Given the description of an element on the screen output the (x, y) to click on. 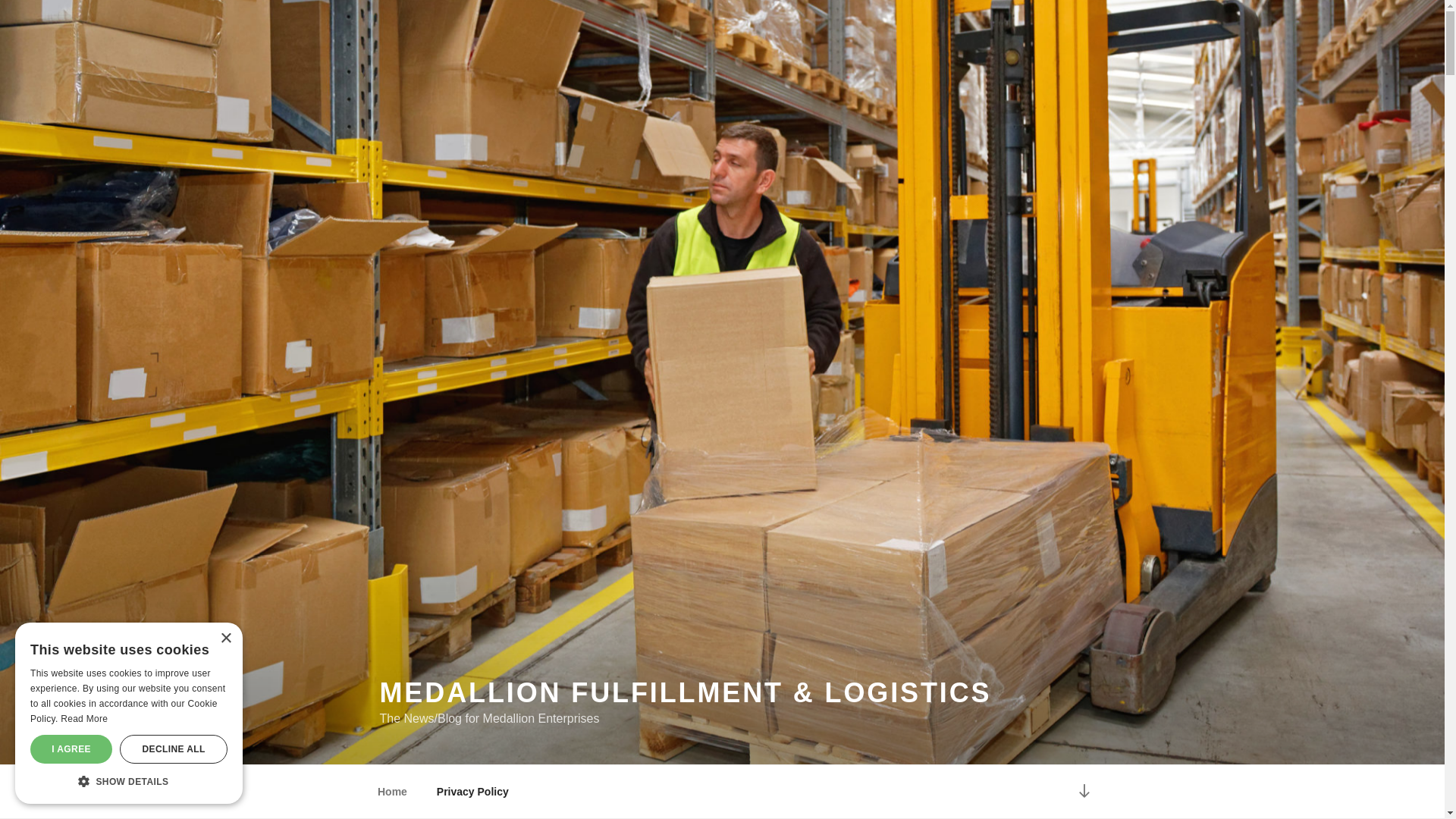
Scroll down to content (1082, 791)
Home (392, 791)
Privacy Policy (472, 791)
Scroll down to content (1082, 791)
